Given the description of an element on the screen output the (x, y) to click on. 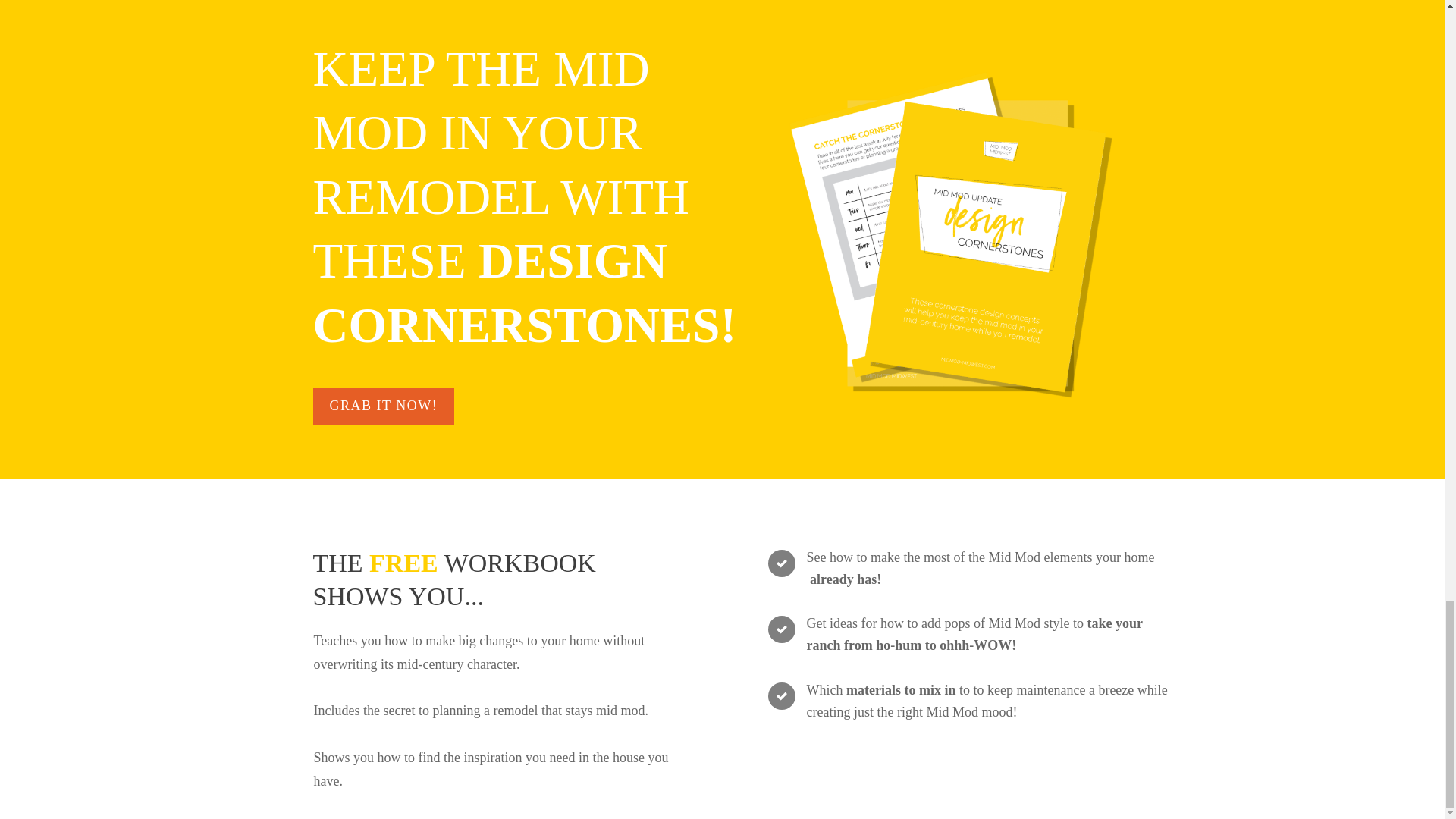
GRAB IT NOW! (383, 406)
cornerstone cover images (951, 234)
